Given the description of an element on the screen output the (x, y) to click on. 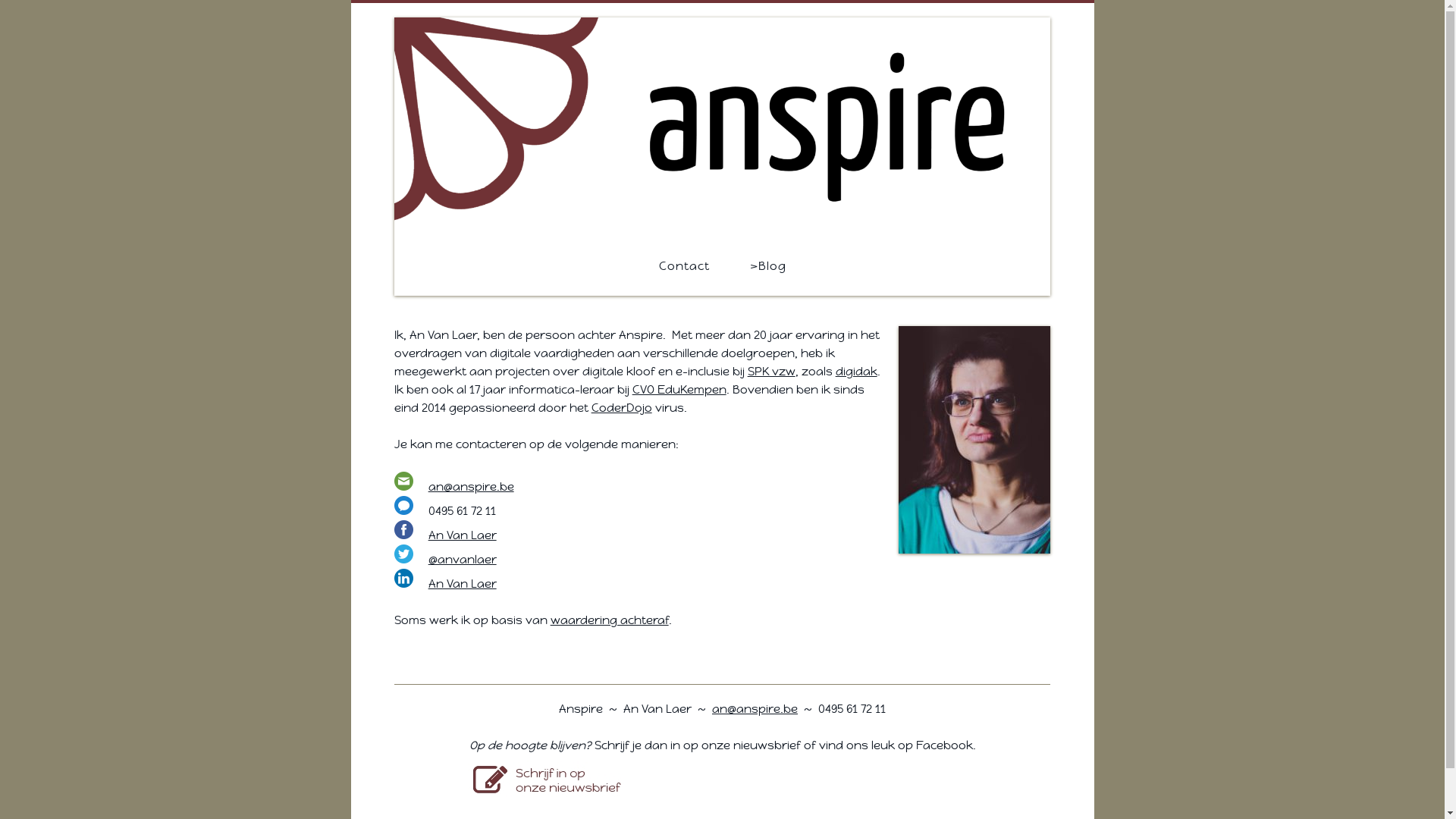
waardering achteraf Element type: text (609, 619)
CoderDojo Element type: text (621, 407)
Contact Element type: text (692, 266)
an@anspire.be Element type: text (754, 708)
An Van Laer Element type: text (462, 534)
an@anspire.be Element type: text (471, 486)
SPK vzw Element type: text (771, 371)
>Blog Element type: text (758, 266)
An Van Laer Element type: text (462, 583)
CVO EduKempen Element type: text (679, 389)
digidak Element type: text (856, 371)
@anvanlaer Element type: text (462, 559)
